Given the description of an element on the screen output the (x, y) to click on. 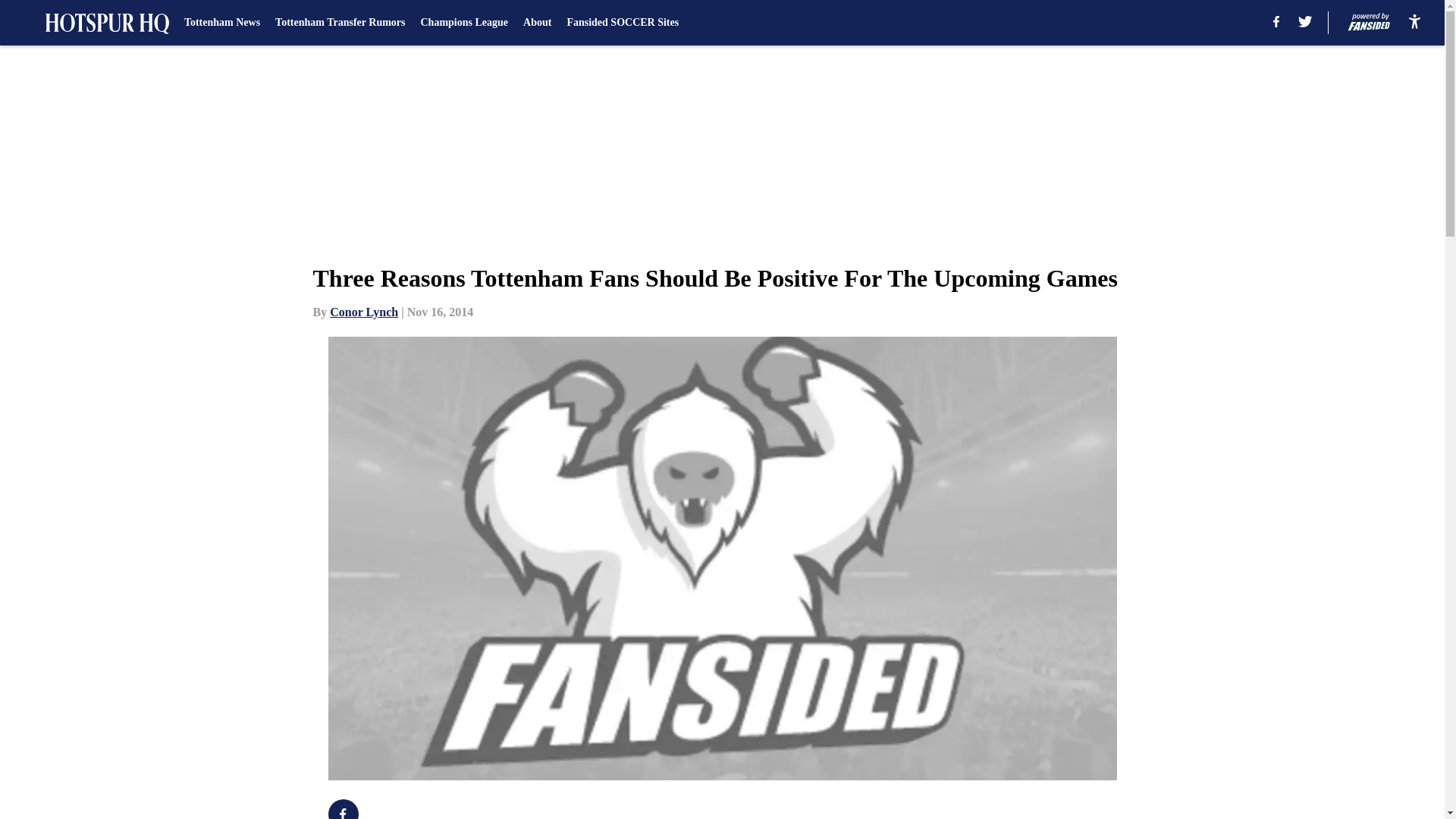
Champions League (464, 22)
About (536, 22)
Fansided SOCCER Sites (622, 22)
Tottenham Transfer Rumors (339, 22)
Conor Lynch (363, 311)
Tottenham News (222, 22)
